Given the description of an element on the screen output the (x, y) to click on. 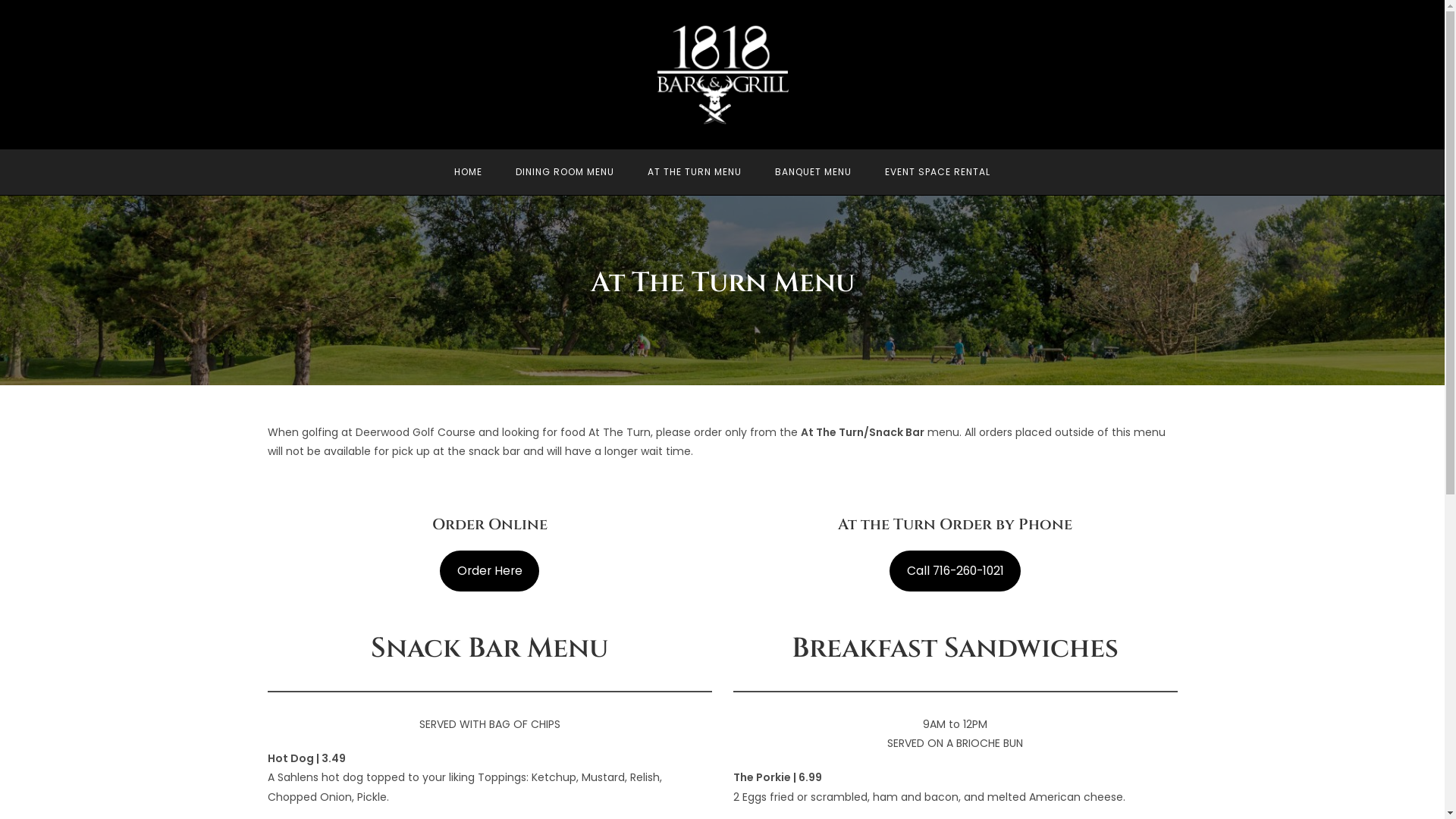
DINING ROOM MENU Element type: text (564, 171)
AT THE TURN MENU Element type: text (694, 171)
HOME Element type: text (467, 171)
EVENT SPACE RENTAL Element type: text (937, 171)
BANQUET MENU Element type: text (813, 171)
Call 716-260-1021 Element type: text (955, 570)
Order Here Element type: text (489, 570)
